Given the description of an element on the screen output the (x, y) to click on. 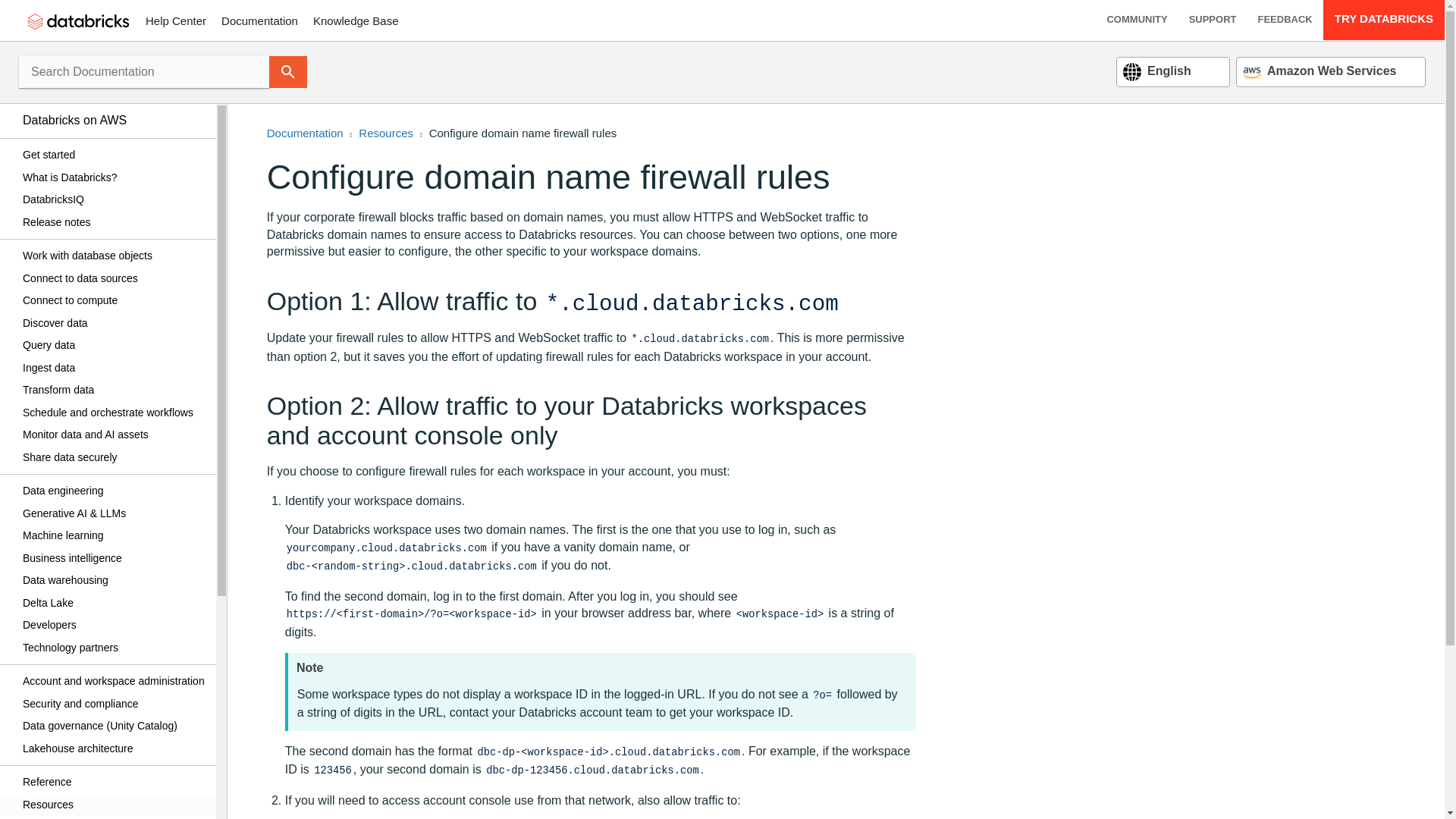
DatabricksIQ (113, 200)
Data warehousing (113, 580)
What is Databricks? (113, 178)
Help Center (176, 20)
Release notes (113, 221)
Technology partners (113, 648)
Discover data (113, 323)
Connect to data sources (113, 277)
Monitor data and AI assets (113, 435)
Data engineering (113, 490)
